Given the description of an element on the screen output the (x, y) to click on. 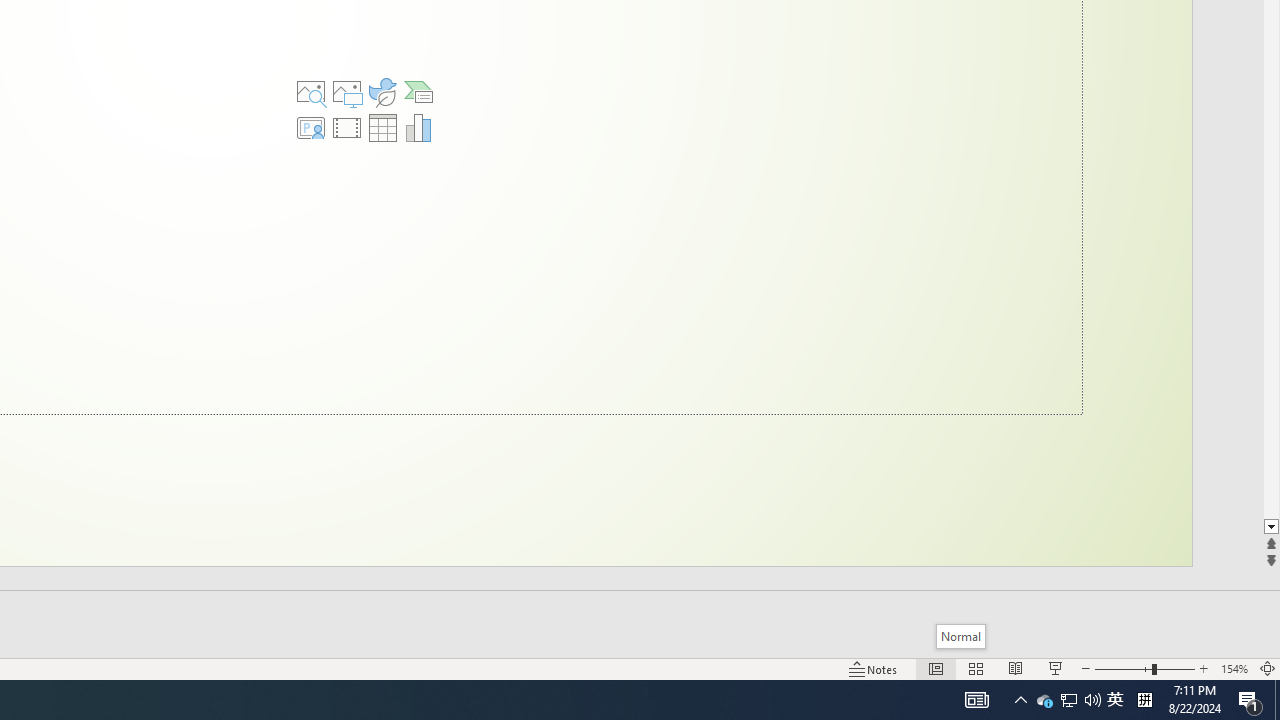
Insert Cameo (310, 128)
Pictures (347, 92)
Stock Images (310, 92)
Zoom 154% (1234, 668)
Insert an Icon (383, 92)
Insert Table (383, 128)
Insert Chart (419, 128)
Insert a SmartArt Graphic (419, 92)
